Given the description of an element on the screen output the (x, y) to click on. 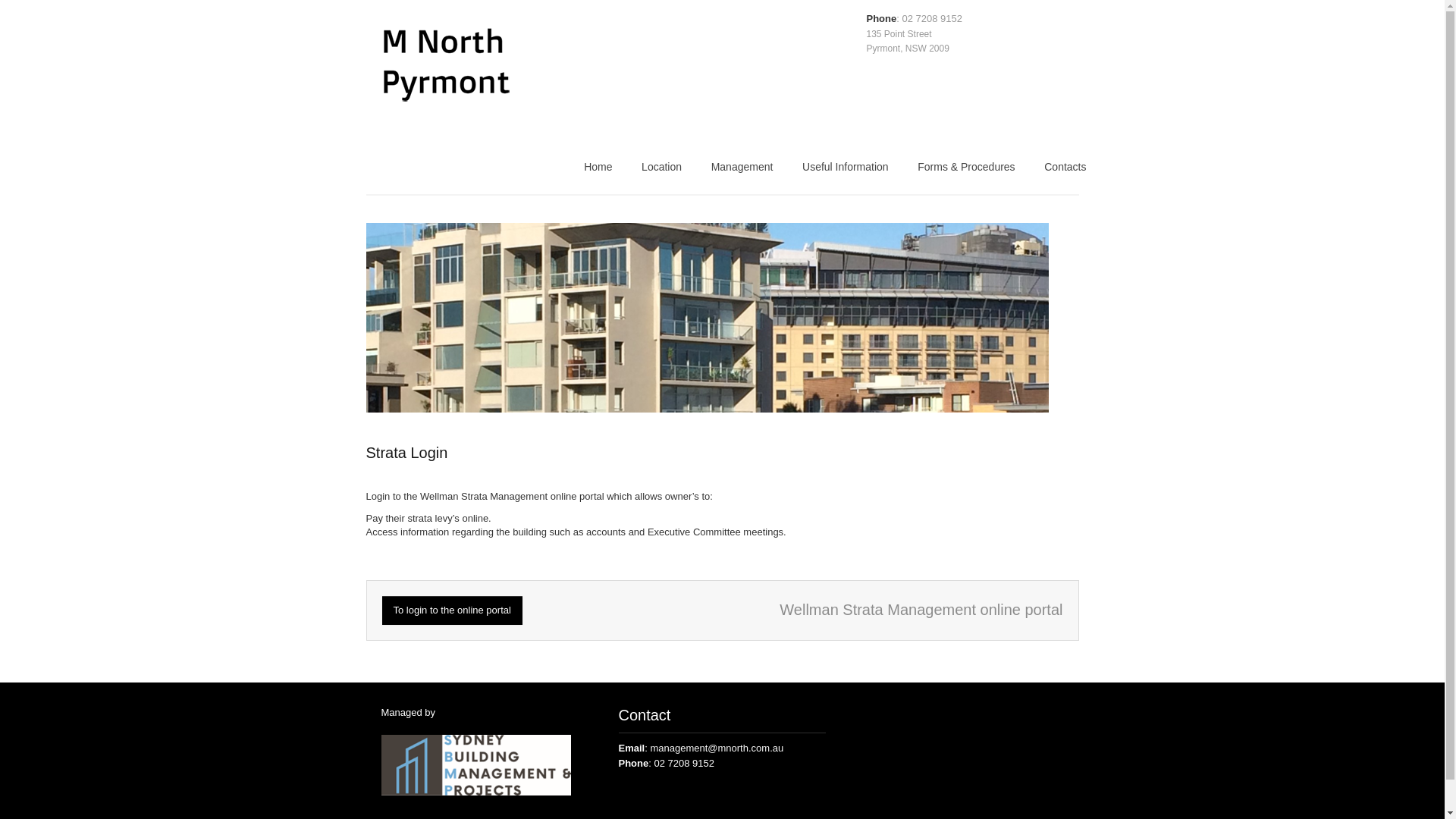
Management Element type: text (742, 170)
Home Element type: text (597, 170)
Location Element type: text (661, 170)
Contacts Element type: text (1064, 170)
Useful Information Element type: text (845, 170)
Forms & Procedures Element type: text (965, 170)
management@mnorth.com.au Element type: text (716, 747)
